Given the description of an element on the screen output the (x, y) to click on. 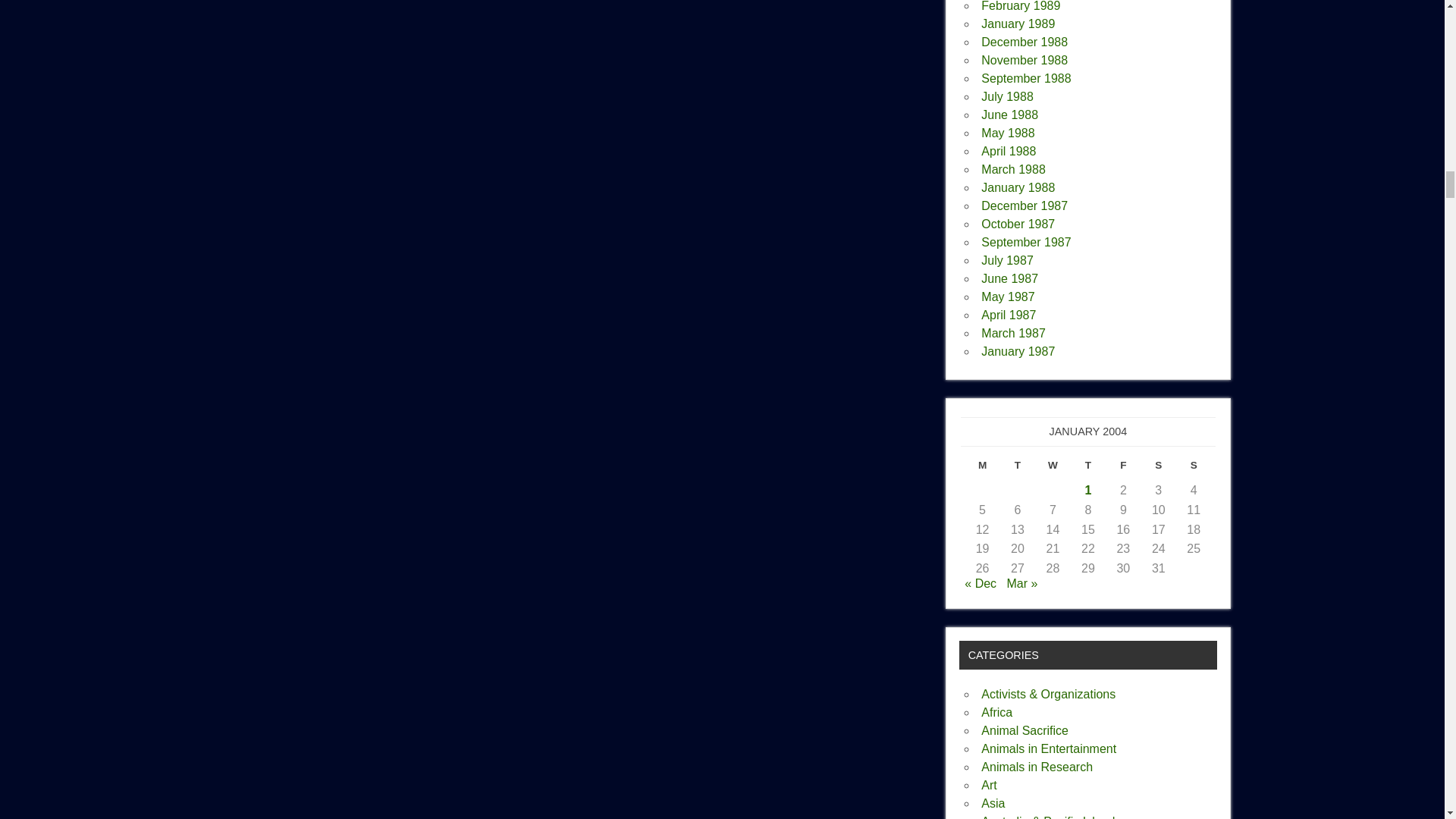
Tuesday (1017, 468)
Wednesday (1052, 468)
Saturday (1158, 468)
Friday (1122, 468)
Thursday (1087, 468)
Monday (980, 468)
Sunday (1193, 468)
